Given the description of an element on the screen output the (x, y) to click on. 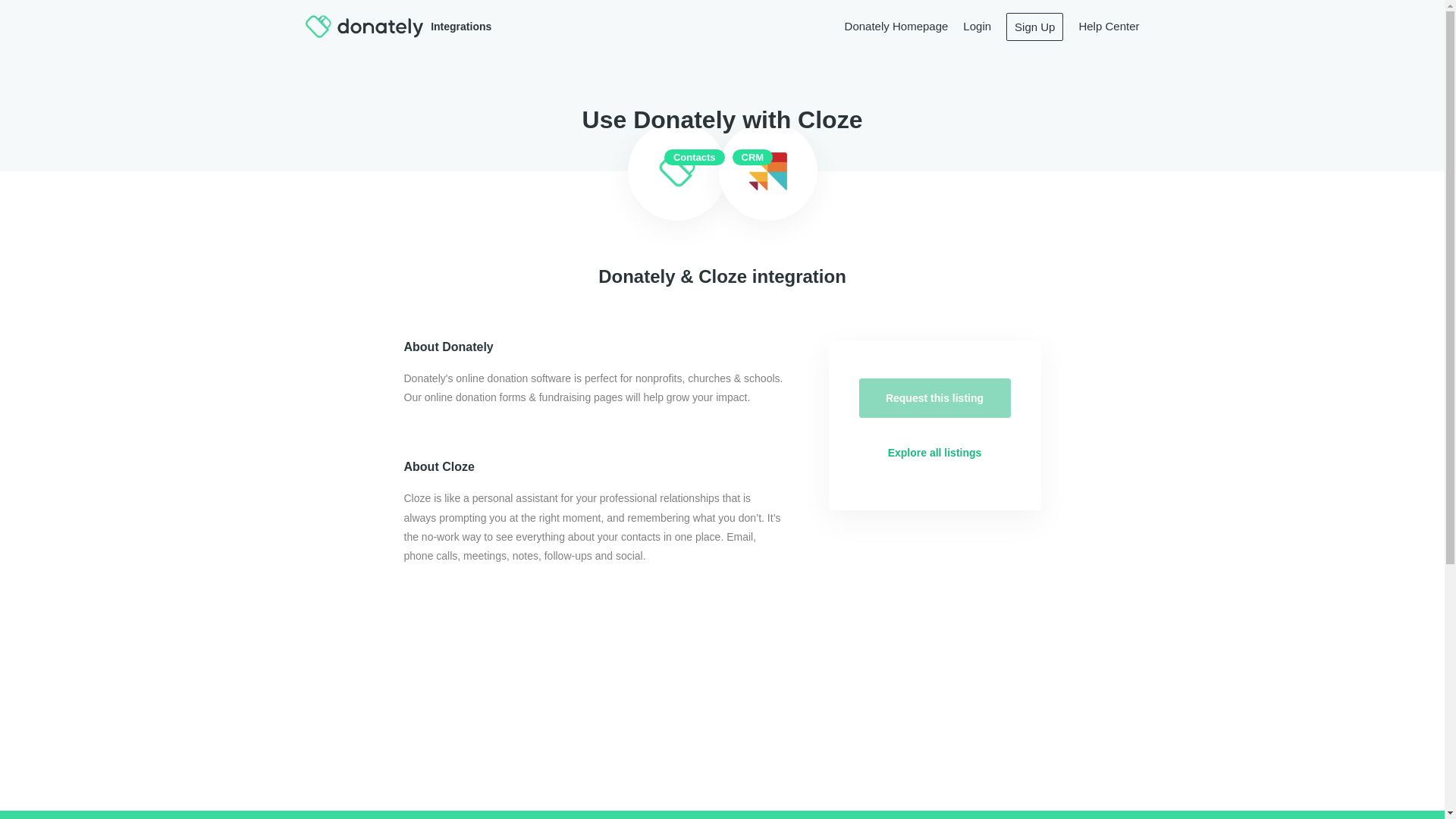
Donately (363, 26)
Integrations (433, 26)
Request this listing (934, 397)
Donately (676, 171)
Donately Homepage (896, 25)
Help Center (1108, 25)
Sign Up (1034, 26)
Explore all listings (934, 452)
Login (976, 25)
Cloze (768, 171)
